Given the description of an element on the screen output the (x, y) to click on. 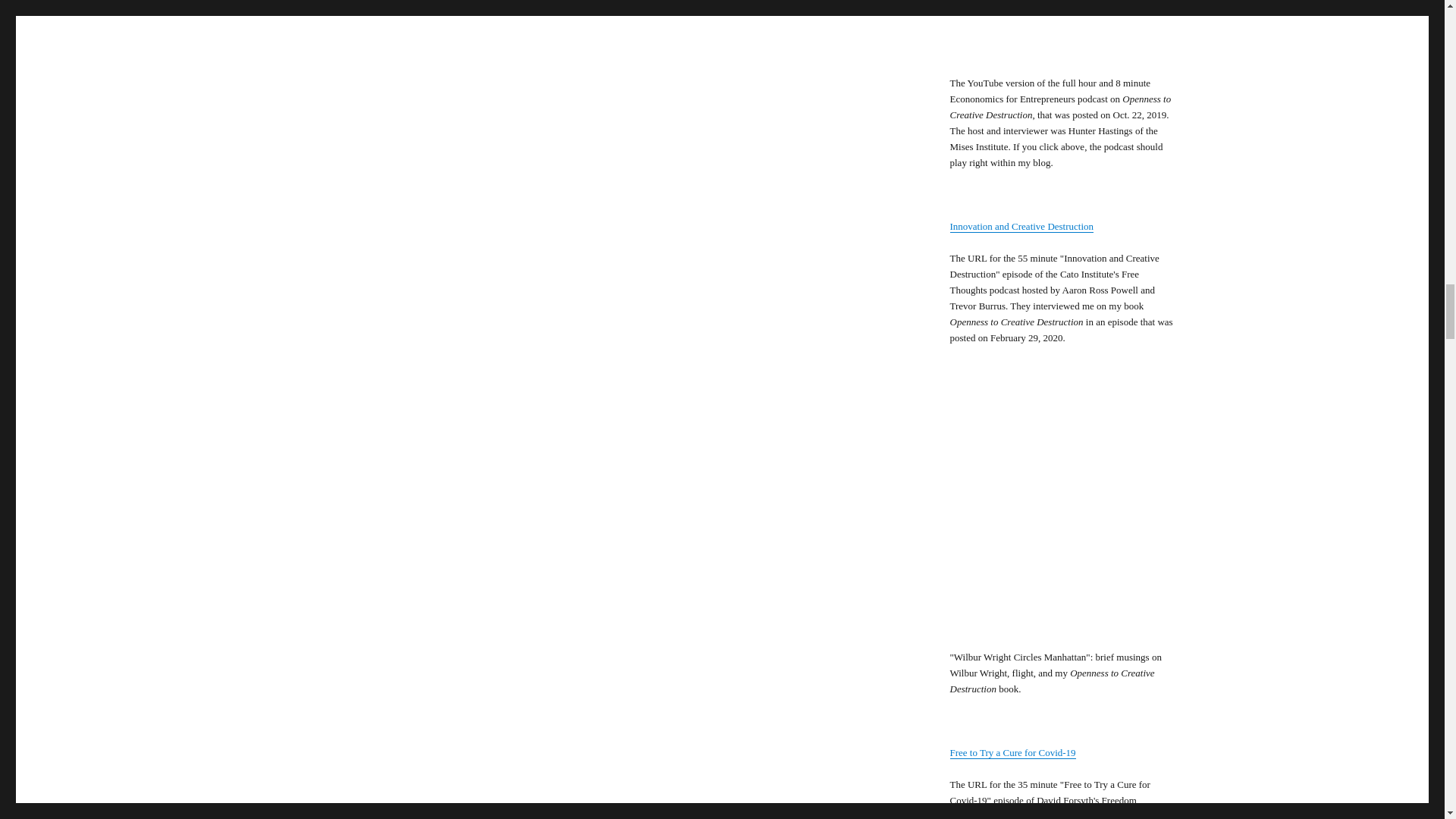
Free to Try a Cure for Covid-19 (1012, 752)
Innovation and Creative Destruction (1021, 225)
